Given the description of an element on the screen output the (x, y) to click on. 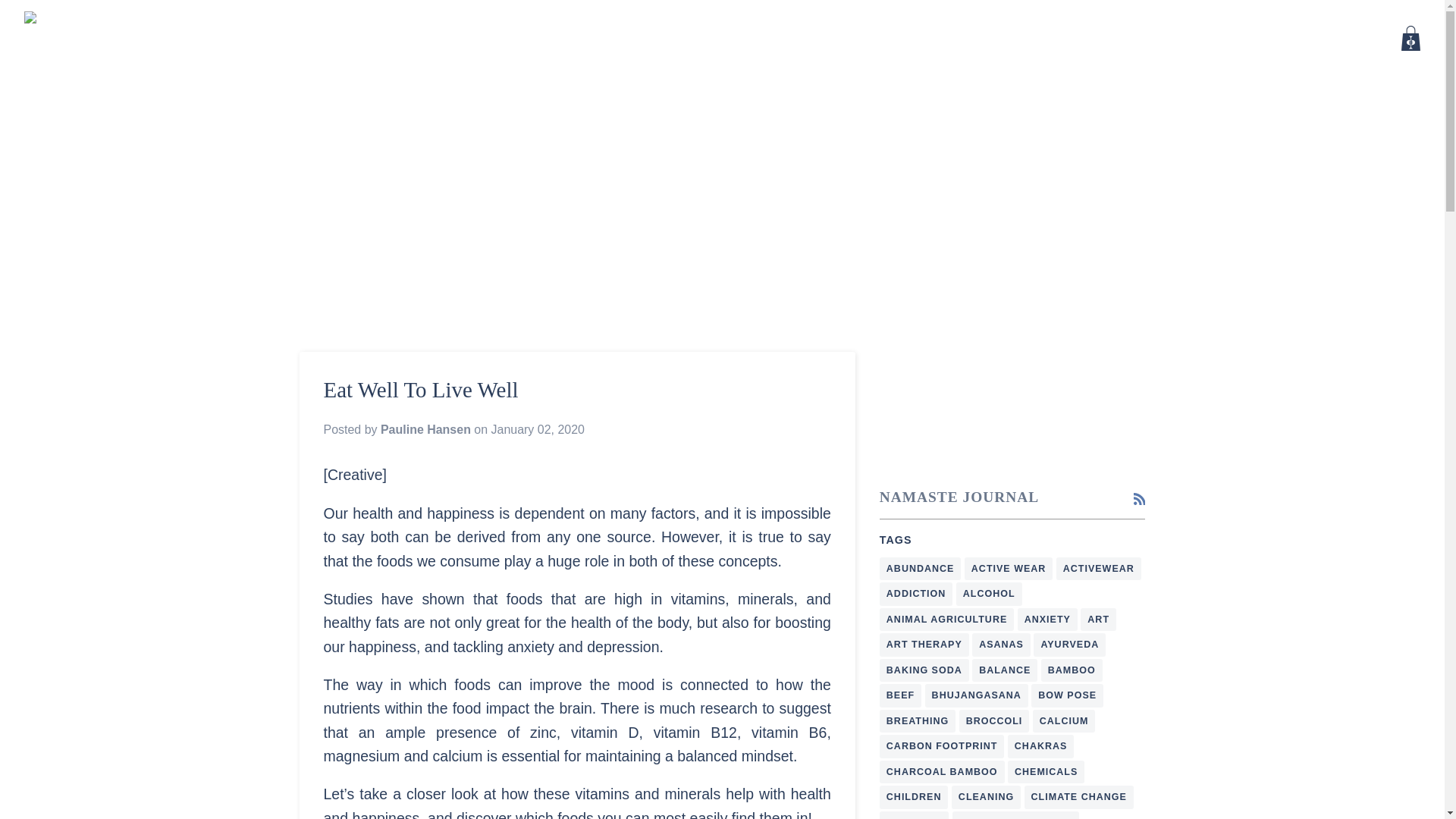
ABOUT (1087, 38)
LOOKBOOKS (1264, 38)
JOURNAL (1165, 38)
